Given the description of an element on the screen output the (x, y) to click on. 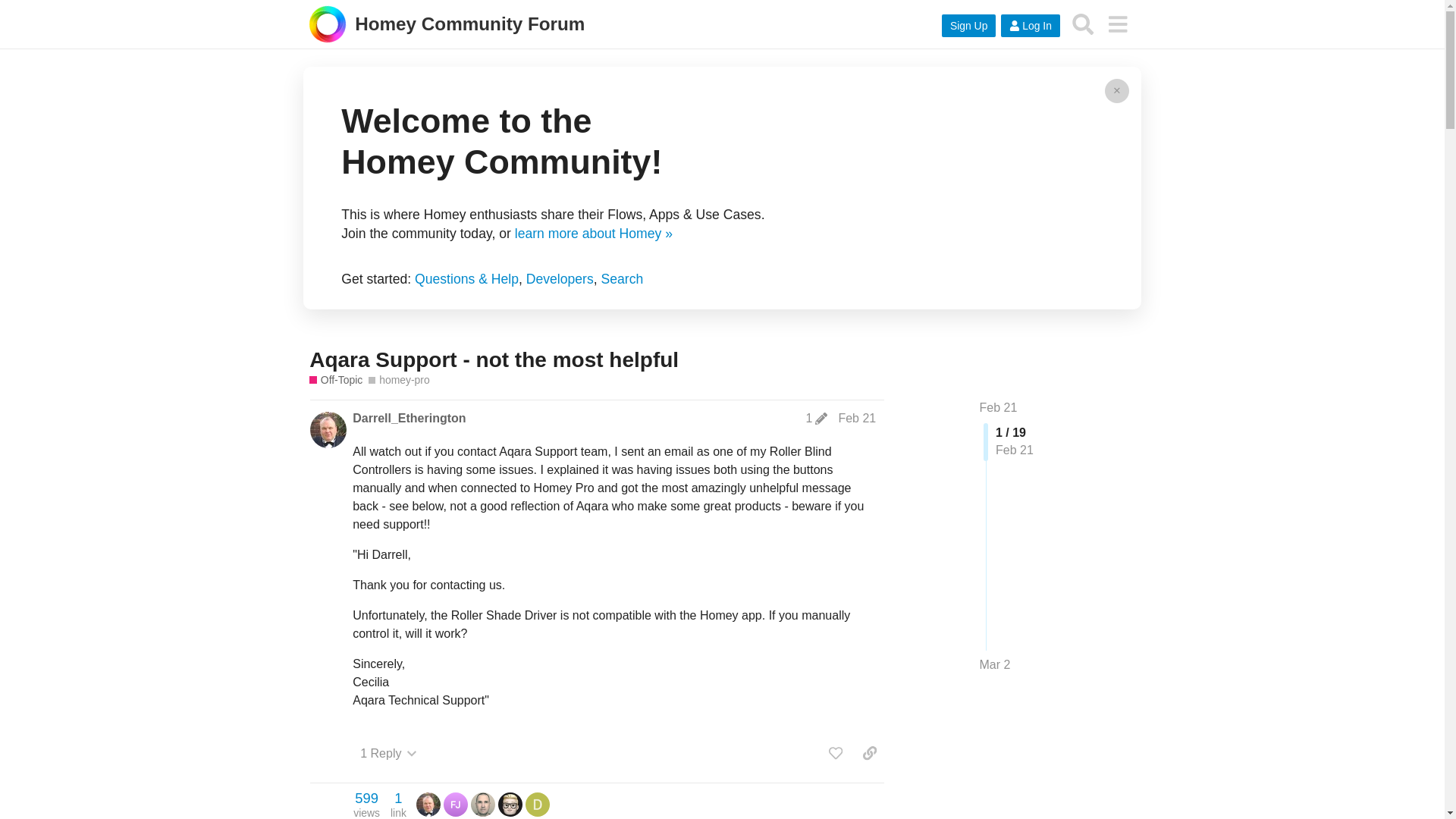
Off-Topic (335, 380)
Sign Up (968, 25)
Feb 21 (998, 407)
Aqara Support - not the most helpful (493, 359)
homey-pro (398, 380)
Developers (559, 278)
1 (815, 418)
post last edited on Mar 2, 2024 2:29 am (366, 804)
Log In (815, 418)
